Given the description of an element on the screen output the (x, y) to click on. 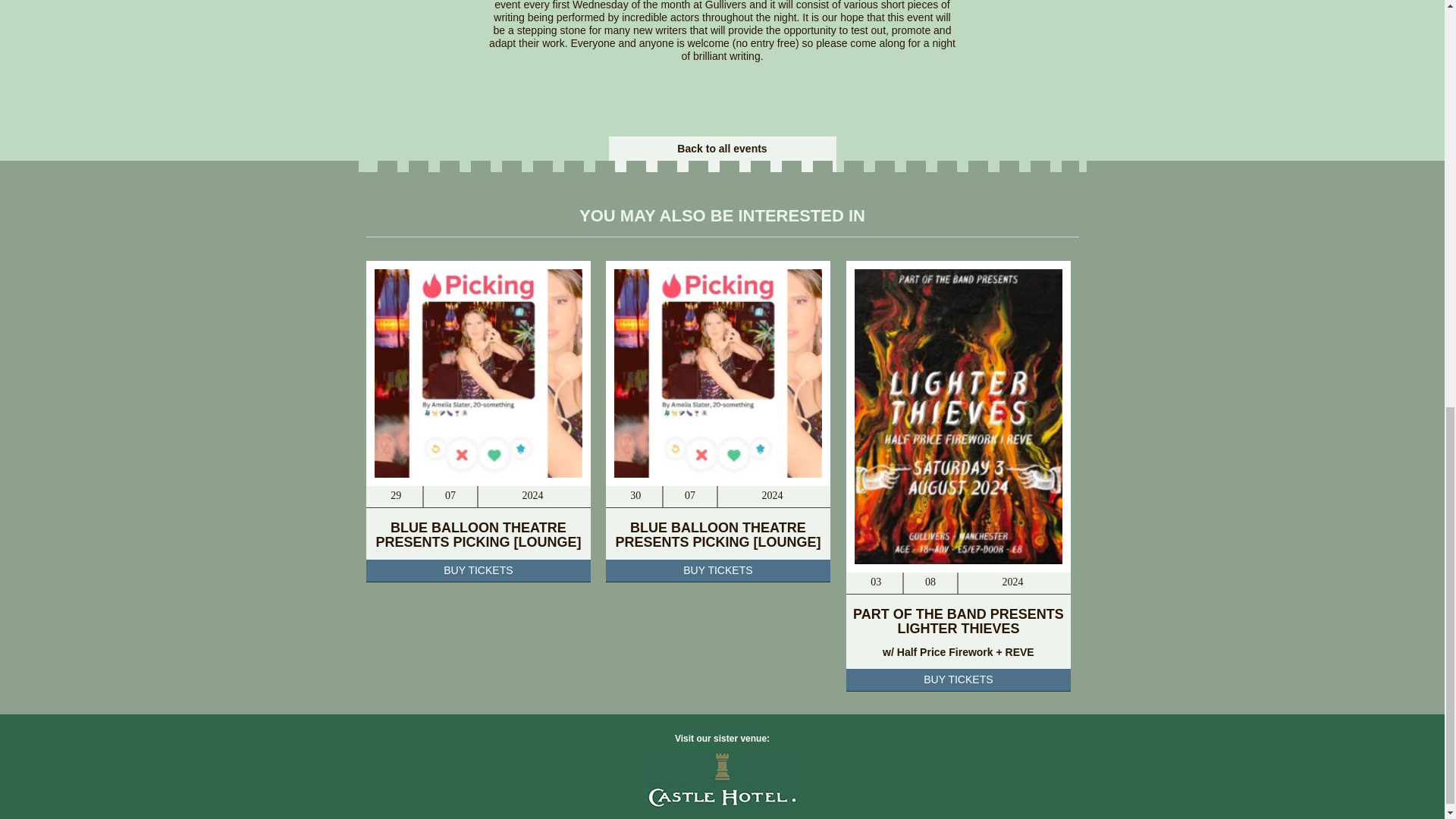
BUY TICKETS (478, 570)
BUY TICKETS (717, 570)
BUY TICKETS (958, 680)
Back to all events (722, 148)
PART OF THE BAND PRESENTS LIGHTER THIEVES (958, 621)
